Given the description of an element on the screen output the (x, y) to click on. 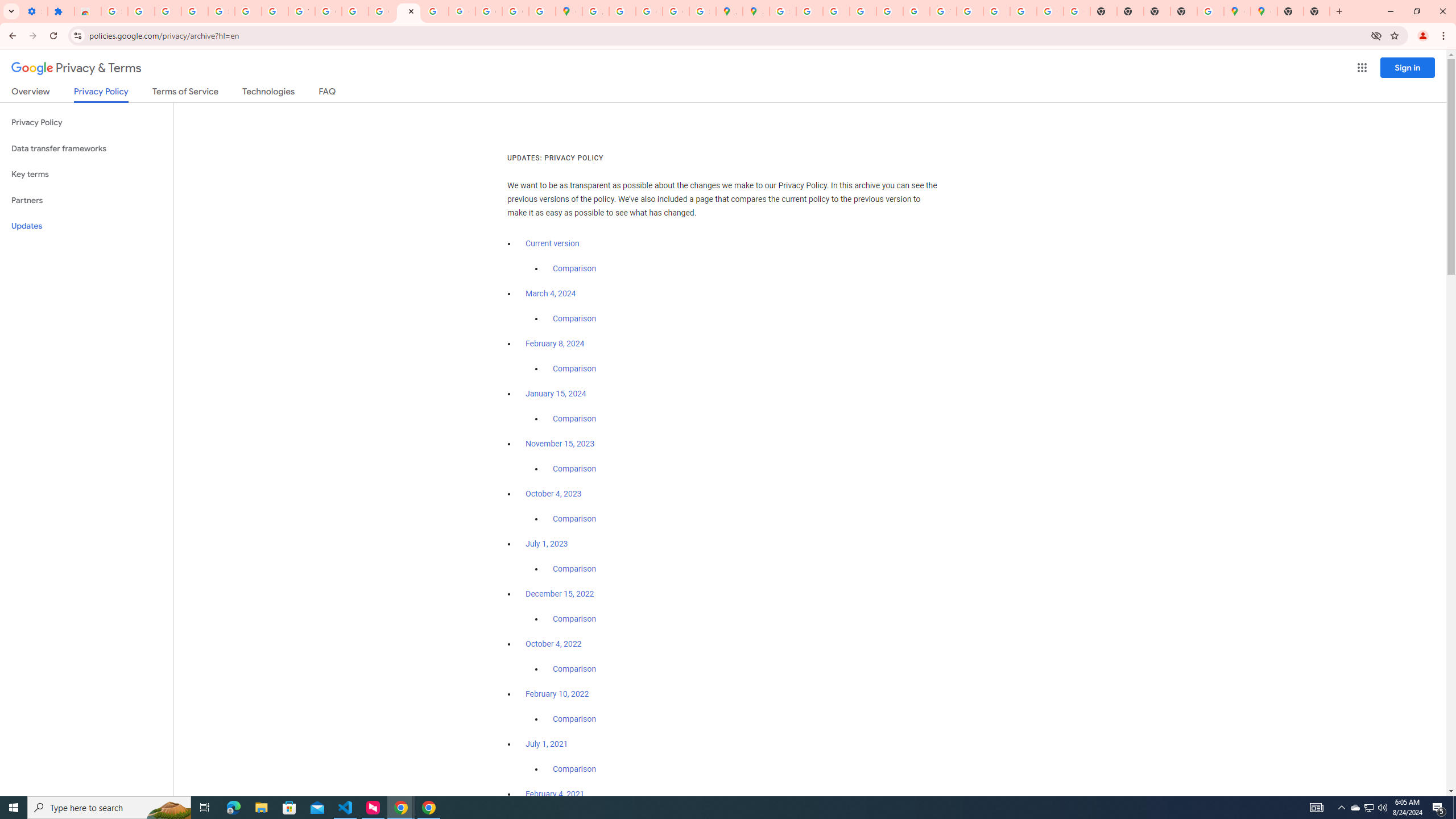
Privacy Help Center - Policies Help (862, 11)
Google Maps (569, 11)
New Tab (1316, 11)
New Tab (1290, 11)
